Given the description of an element on the screen output the (x, y) to click on. 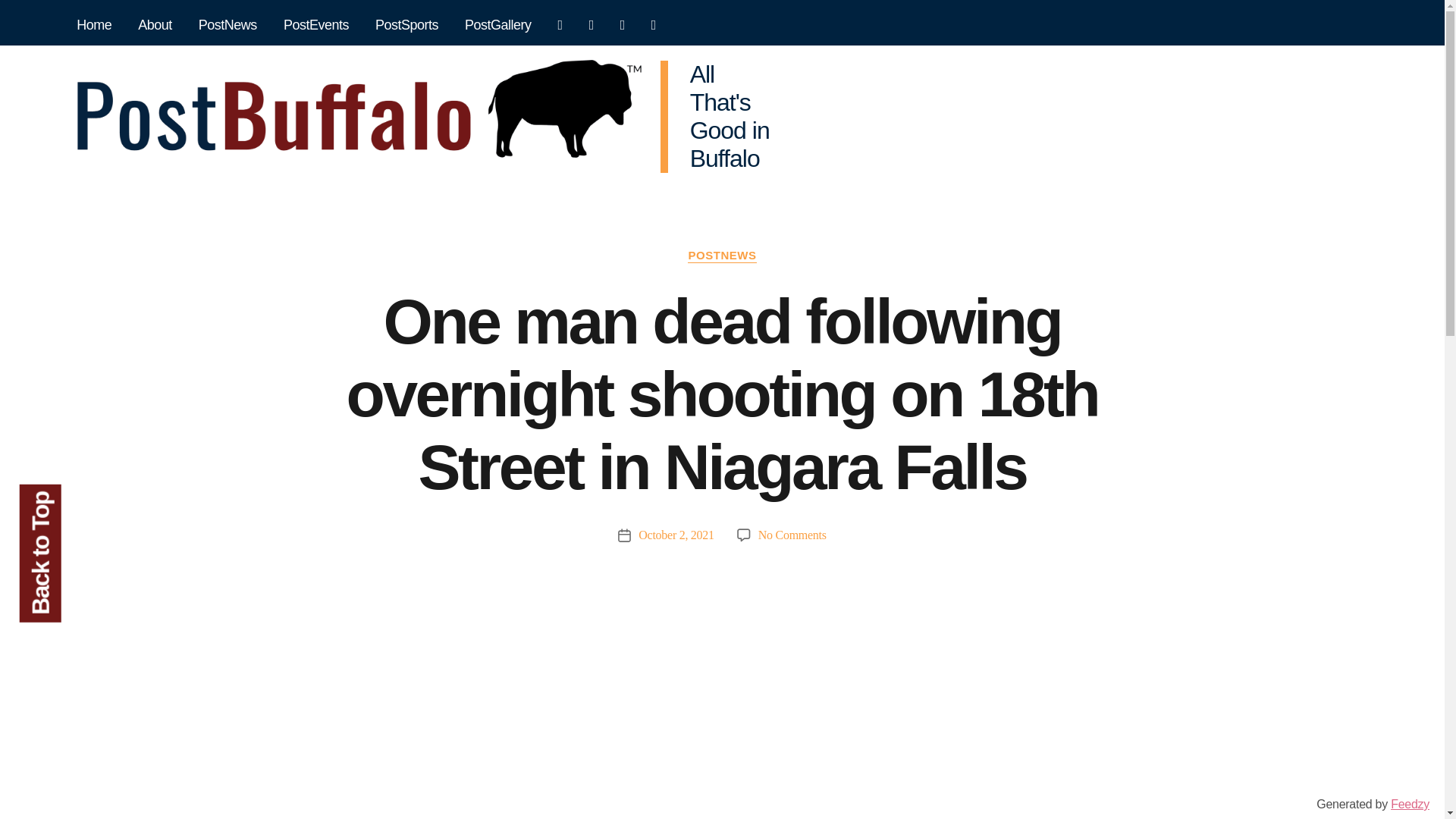
Back to Top (88, 504)
PostNews (227, 25)
PostGallery (498, 25)
PostEvents (315, 25)
PostSports (406, 25)
Home (93, 25)
Feedzy (1409, 803)
About (154, 25)
POSTNEWS (721, 255)
October 2, 2021 (676, 534)
